Given the description of an element on the screen output the (x, y) to click on. 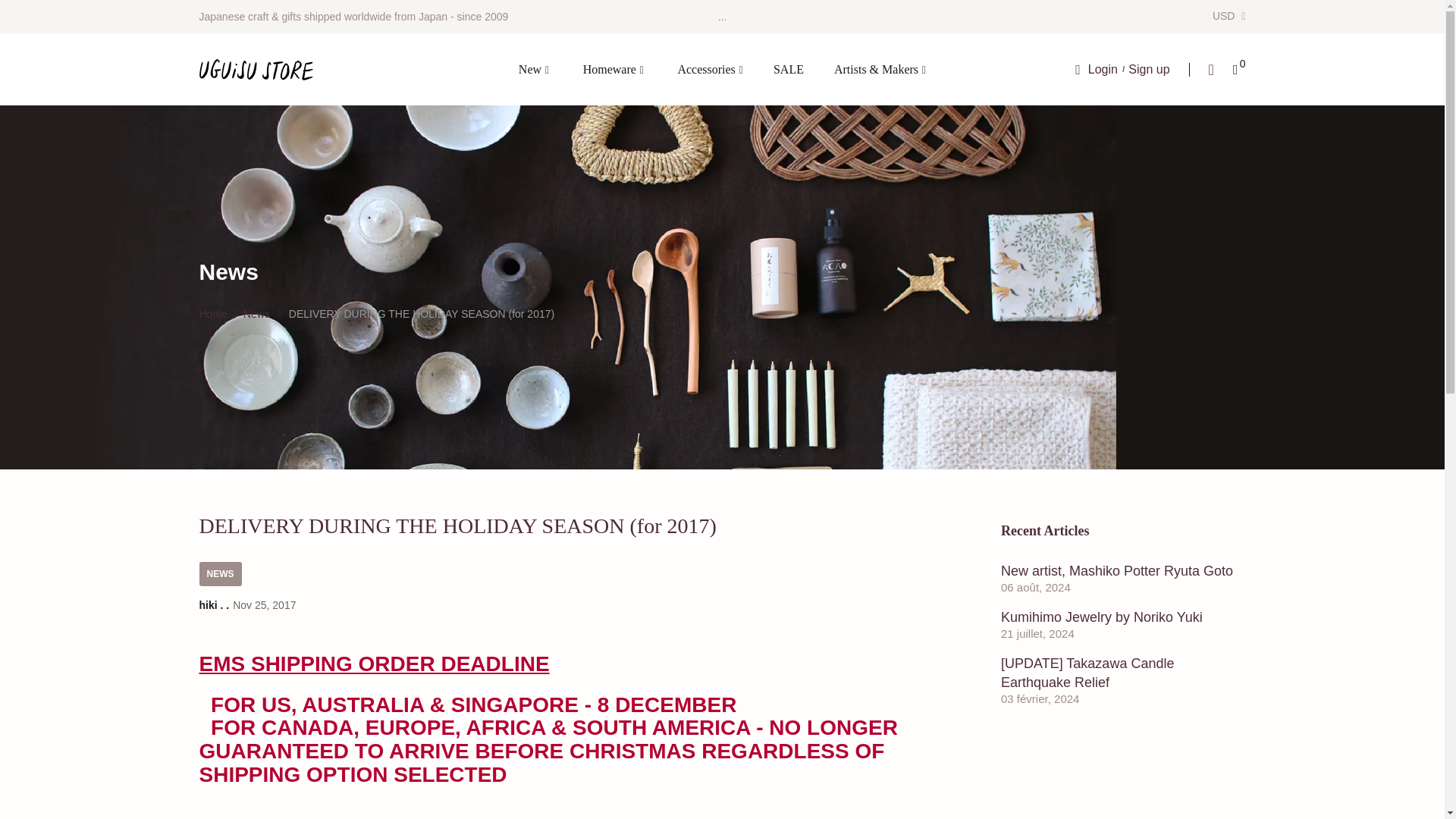
New (533, 69)
New (533, 69)
Homeware (613, 69)
Homeware (613, 69)
Accessories (710, 69)
SALE (788, 69)
UGUiSU STORE (255, 69)
